Given the description of an element on the screen output the (x, y) to click on. 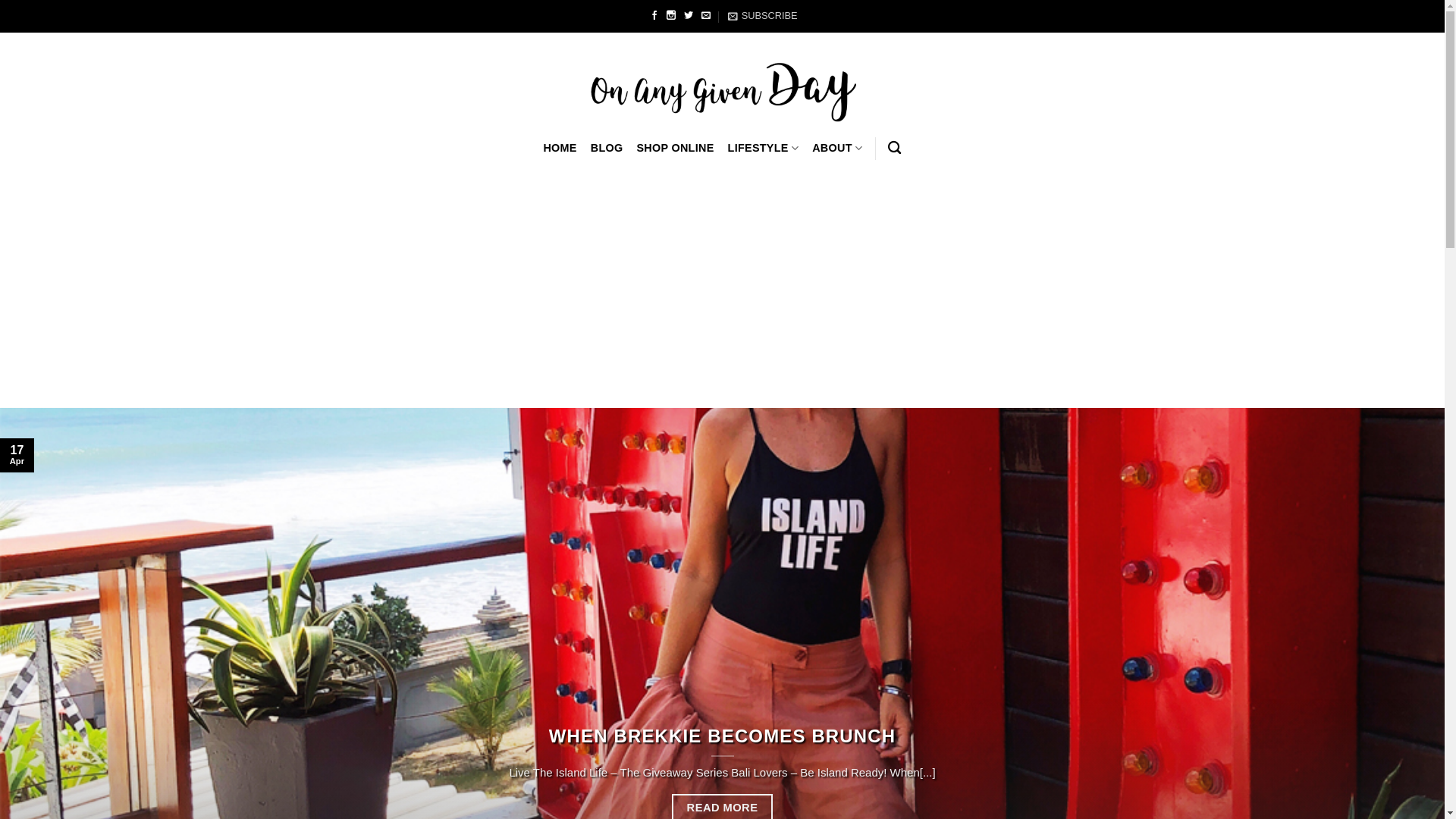
SHOP ONLINE Element type: text (674, 148)
BLOG Element type: text (606, 148)
Advertisement Element type: hover (721, 294)
ABOUT Element type: text (837, 148)
LIFESTYLE Element type: text (763, 148)
HOME Element type: text (559, 148)
SUBSCRIBE Element type: text (762, 15)
